Given the description of an element on the screen output the (x, y) to click on. 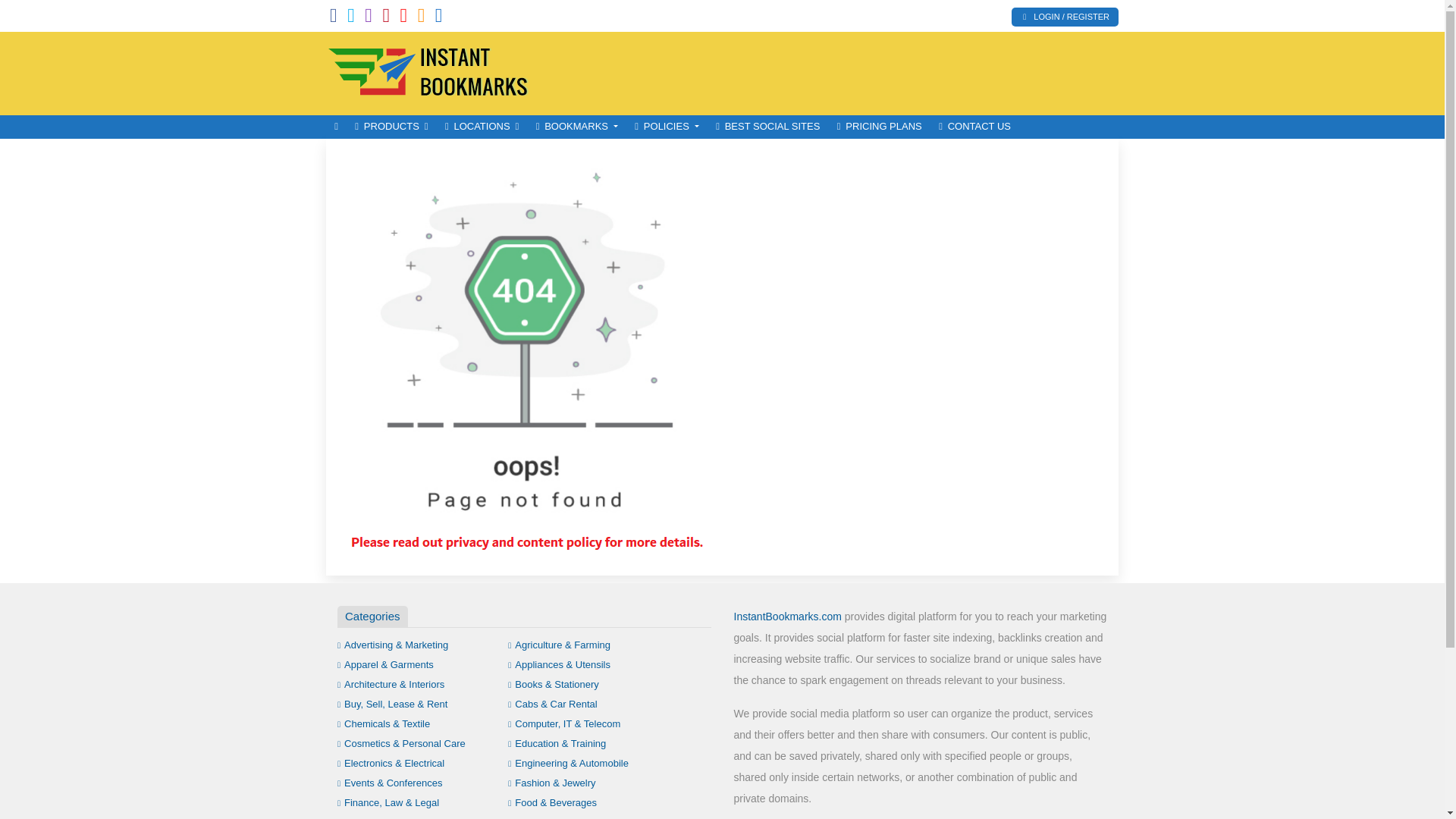
PRODUCTS (391, 126)
LOCATIONS (481, 126)
Advertise on Digital Media Platform to Reach Marketing Goal (428, 71)
